Given the description of an element on the screen output the (x, y) to click on. 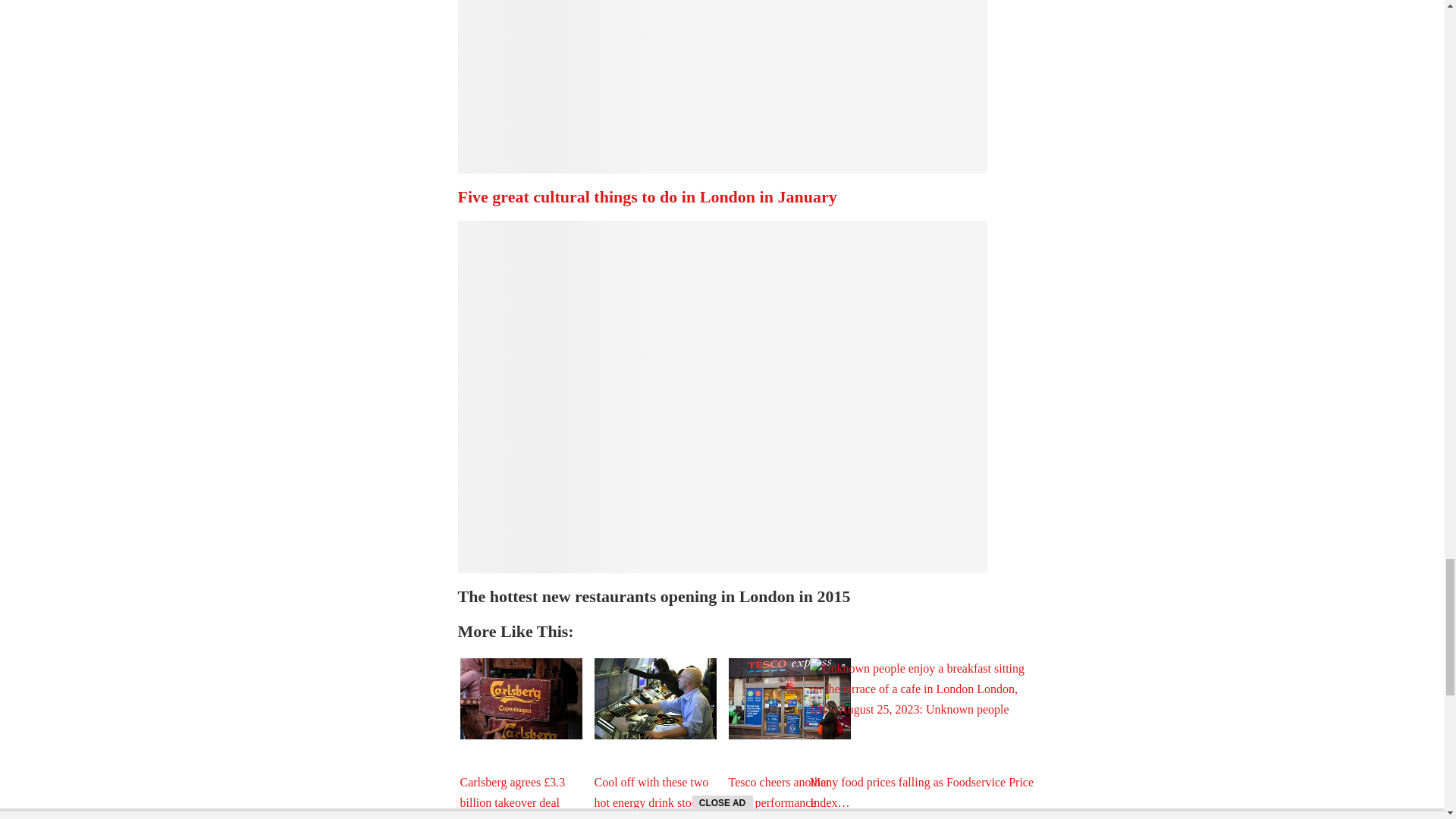
Tesco cheers another solid performance (789, 698)
Cool off with these two hot energy drink stocks this June (655, 698)
